Given the description of an element on the screen output the (x, y) to click on. 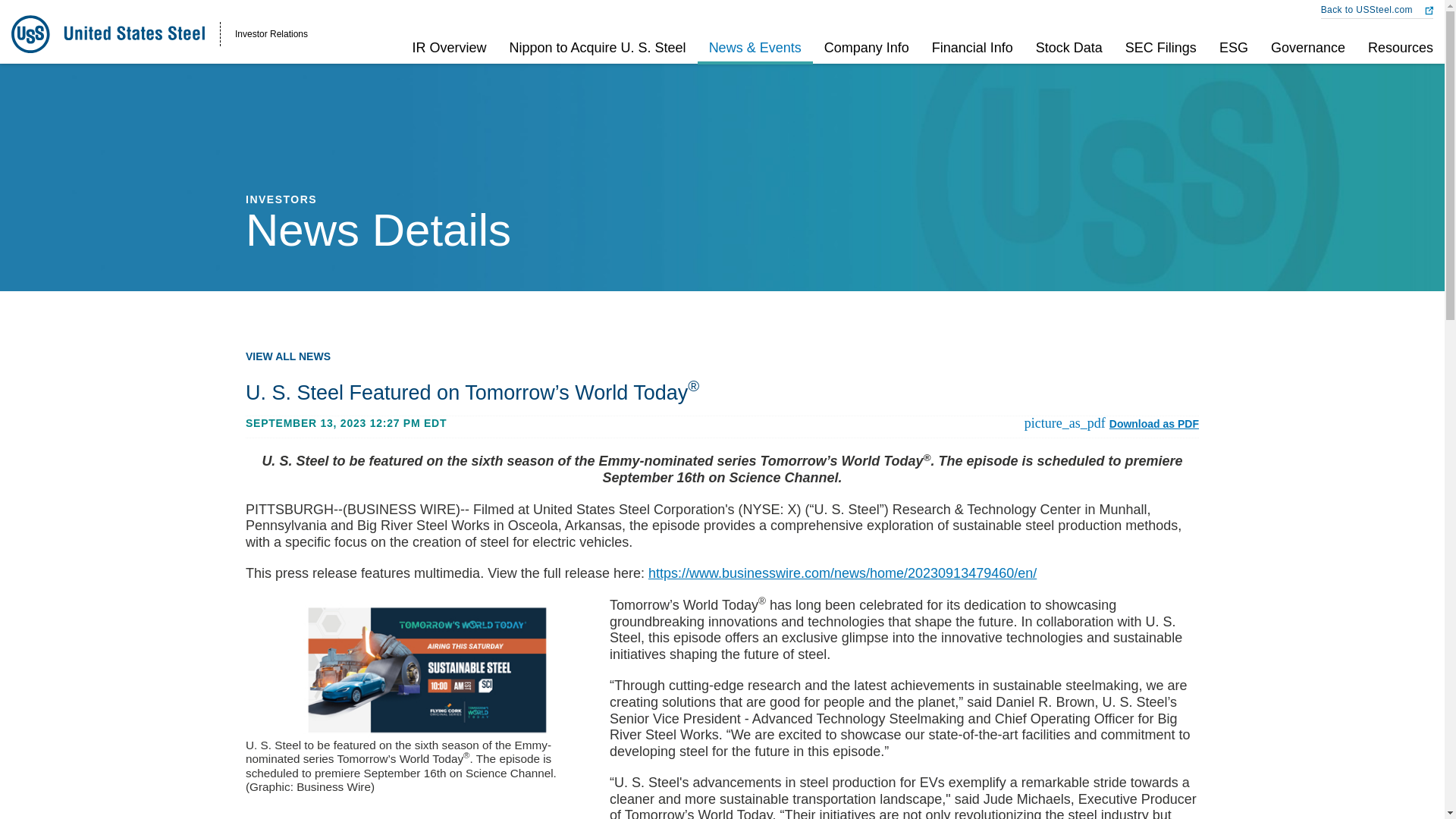
IR Overview (448, 52)
ESG (1233, 52)
Nippon to Acquire U. S. Steel (597, 52)
SEC Filings (1160, 52)
Back to USSteel.com (1376, 11)
Resources (1394, 52)
Opens in a new window (597, 52)
Opens in a new window (1376, 11)
Governance (1307, 52)
Investors (399, 52)
Investor Relations (159, 34)
Stock Data (1069, 52)
Financial Info (972, 52)
Company Info (866, 52)
